Given the description of an element on the screen output the (x, y) to click on. 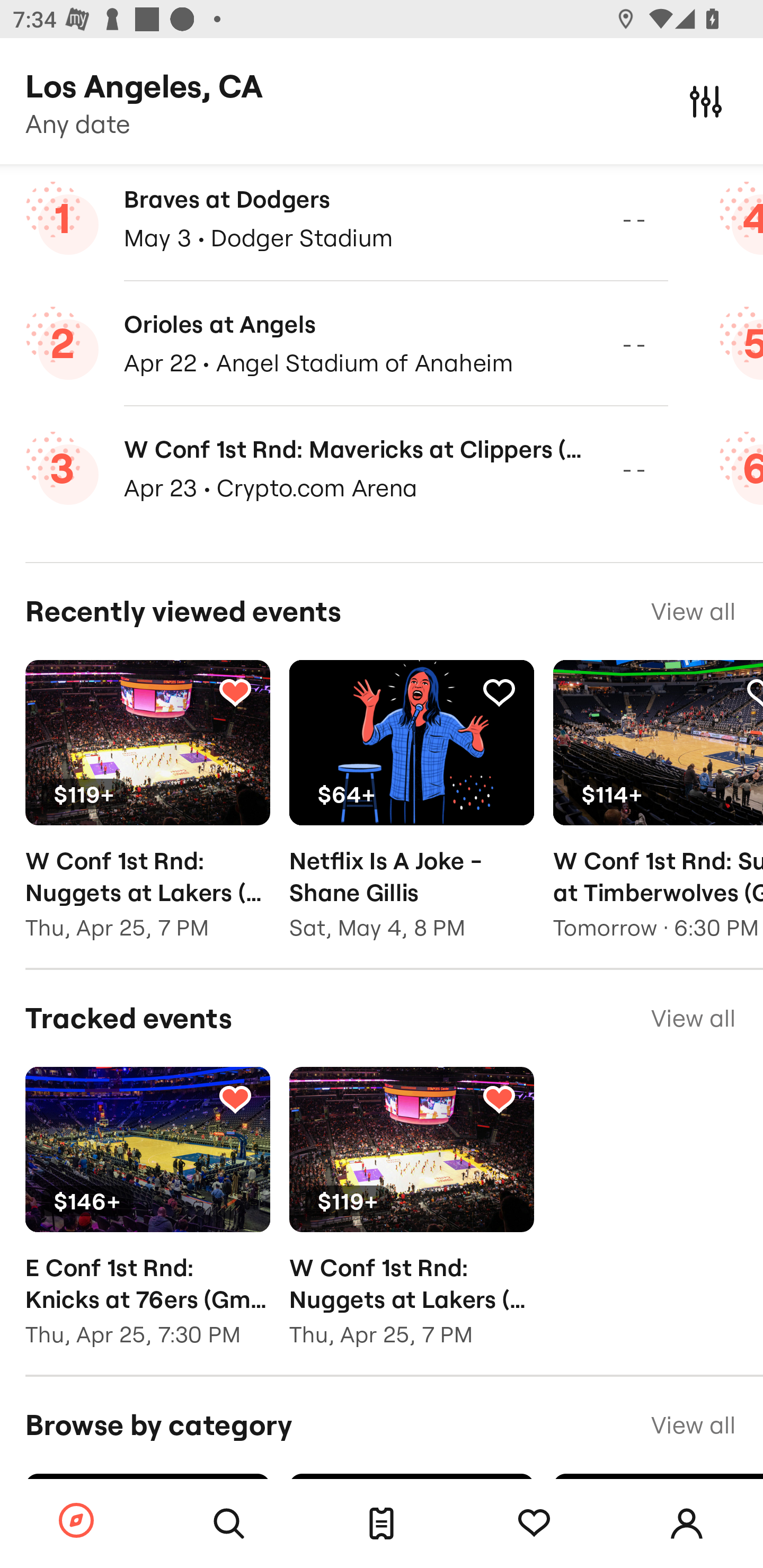
Filters (705, 100)
View all (693, 611)
Tracking (234, 691)
Tracking (498, 691)
View all (693, 1018)
Tracking (234, 1098)
Tracking (498, 1098)
View all (693, 1424)
Browse (76, 1521)
Search (228, 1523)
Tickets (381, 1523)
Tracking (533, 1523)
Account (686, 1523)
